Given the description of an element on the screen output the (x, y) to click on. 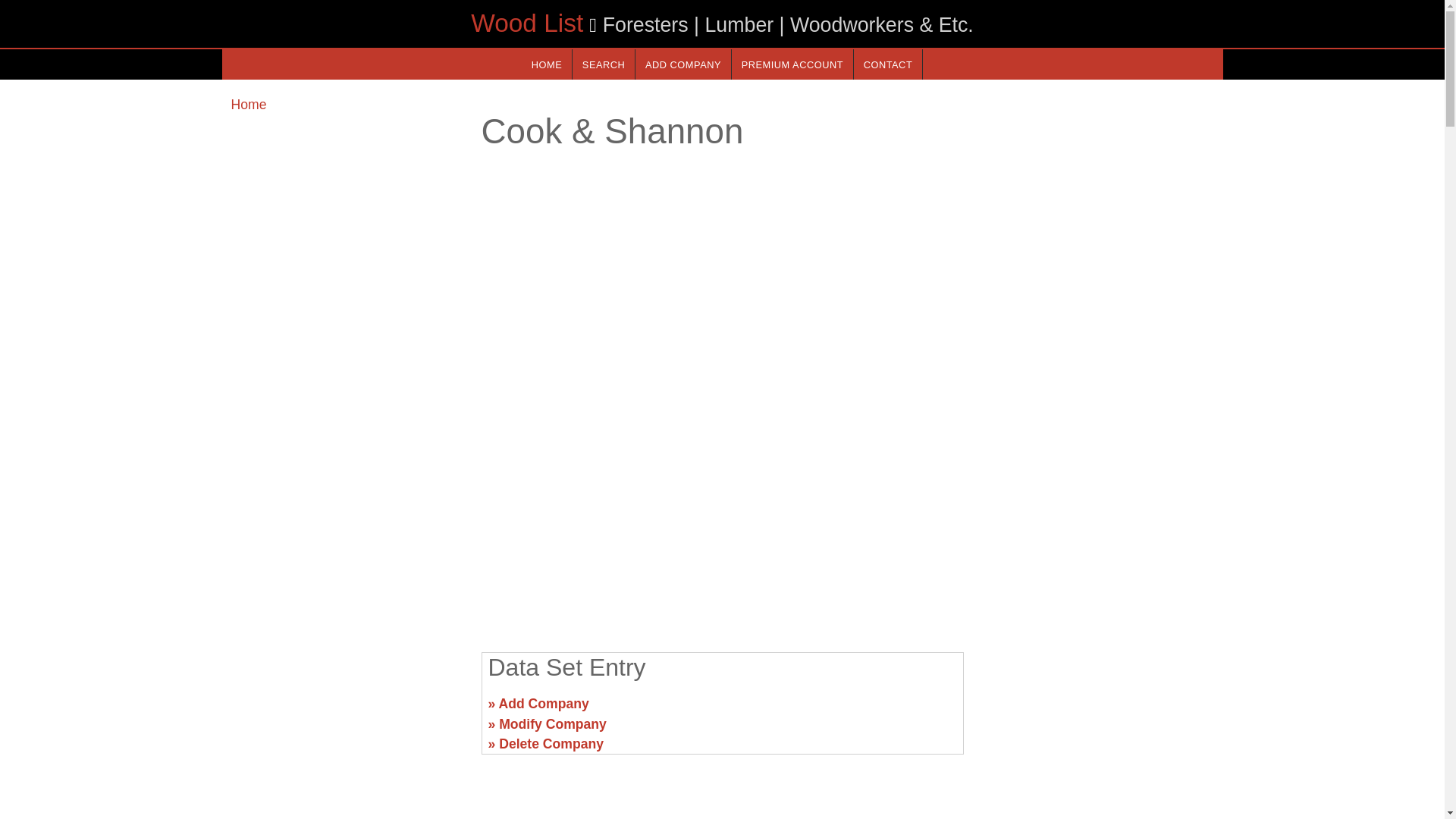
Advertisement (721, 522)
PREMIUM ACCOUNT (792, 64)
HOME (546, 64)
Search in this webseite. (603, 64)
Wood List (526, 22)
CONTACT (887, 64)
Premium account (792, 64)
ADD COMPANY (682, 64)
Advertisement (1096, 710)
